Given the description of an element on the screen output the (x, y) to click on. 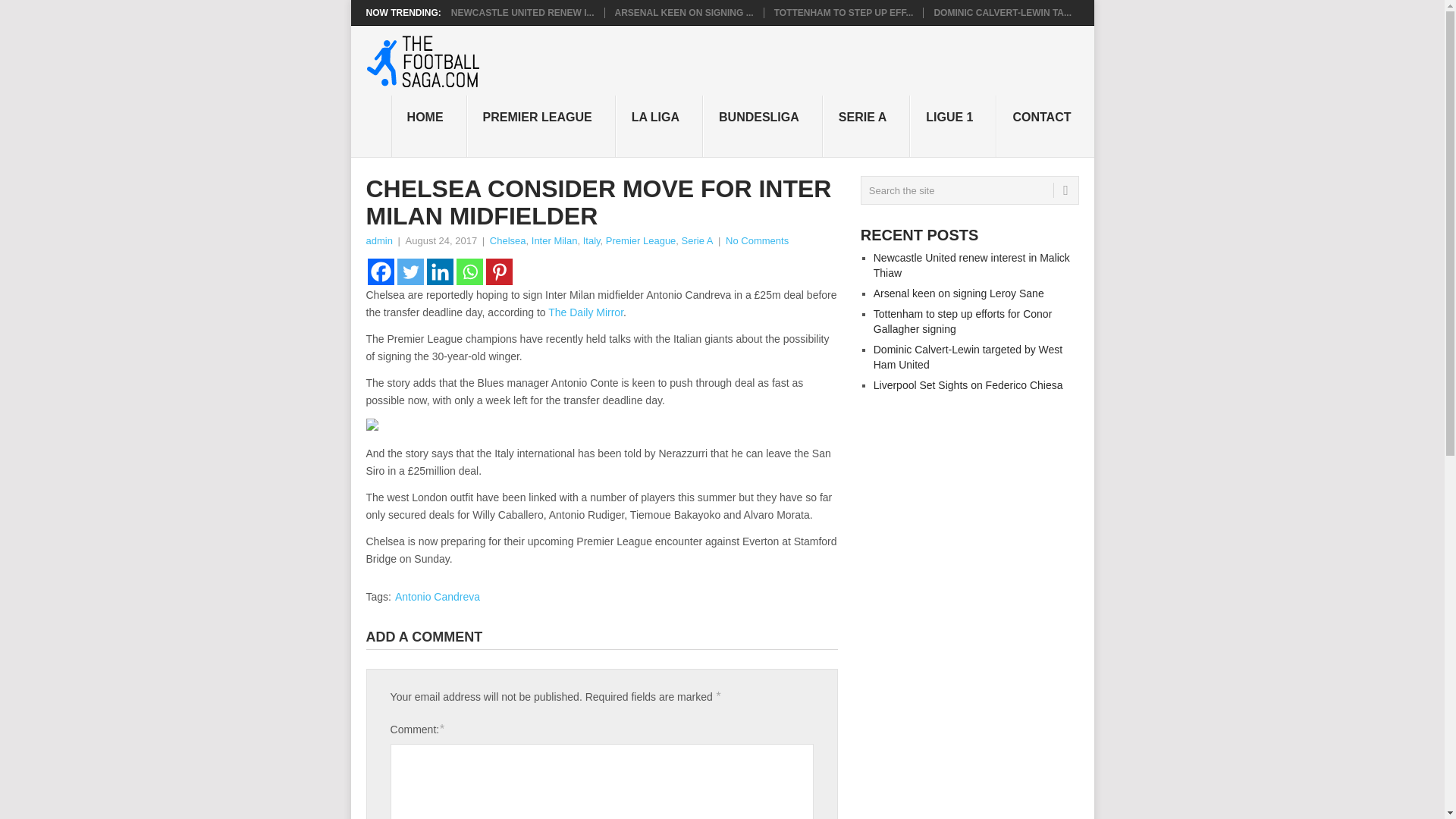
PREMIER LEAGUE (541, 126)
TOTTENHAM TO STEP UP EFF... (844, 12)
NEWCASTLE UNITED RENEW I... (522, 12)
Newcastle United renew interest in Malick Thiaw (971, 265)
admin (378, 240)
Serie A (697, 240)
Antonio Candreva (437, 596)
Twitter (410, 271)
SERIE A (866, 126)
Premier League (641, 240)
Search the site (969, 190)
Arsenal keen on signing Leroy Sane (958, 293)
Chelsea (507, 240)
Facebook (379, 271)
Arsenal keen on signing Leroy Sane (683, 12)
